Given the description of an element on the screen output the (x, y) to click on. 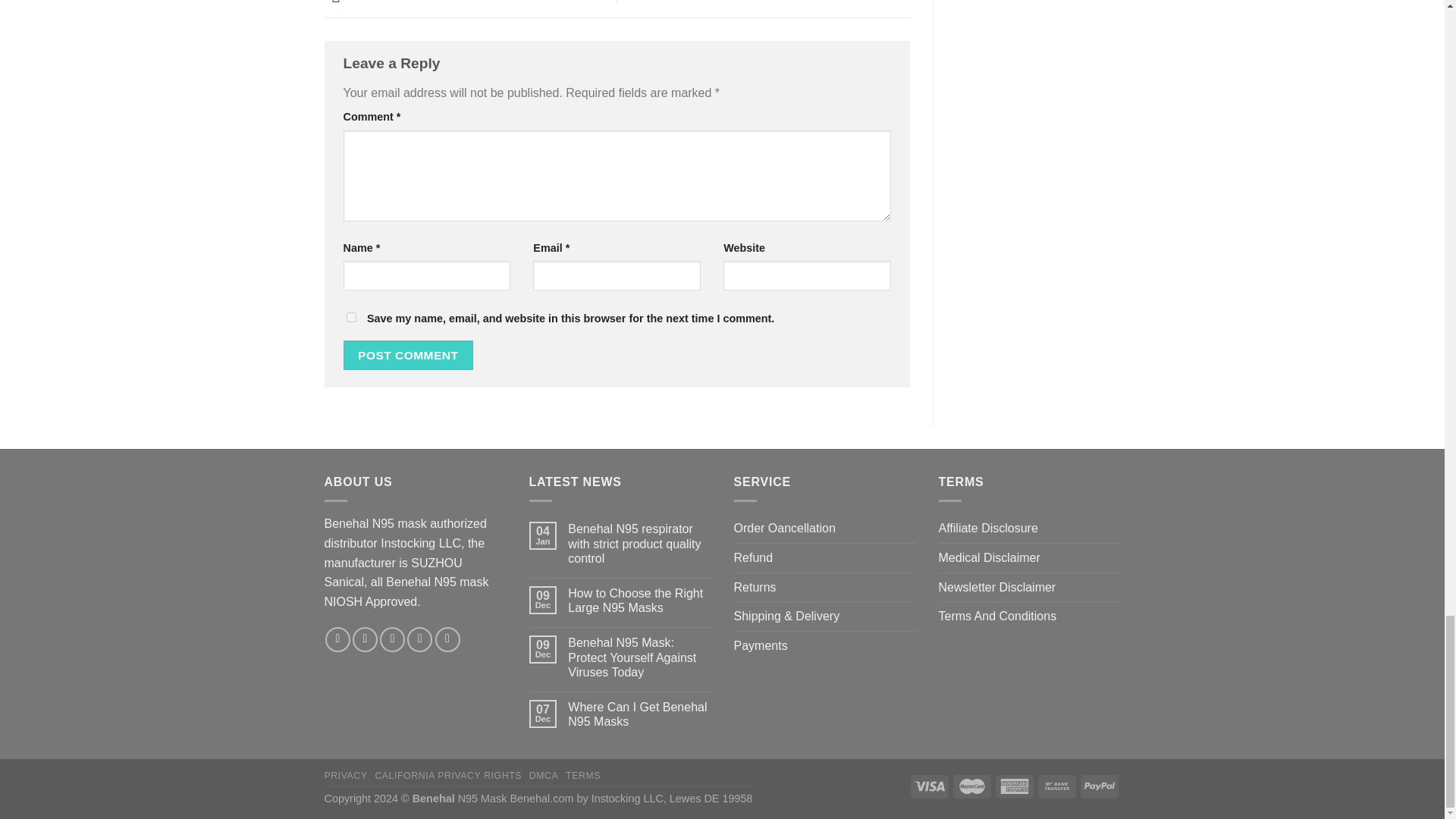
yes (350, 317)
Post Comment (407, 355)
